Given the description of an element on the screen output the (x, y) to click on. 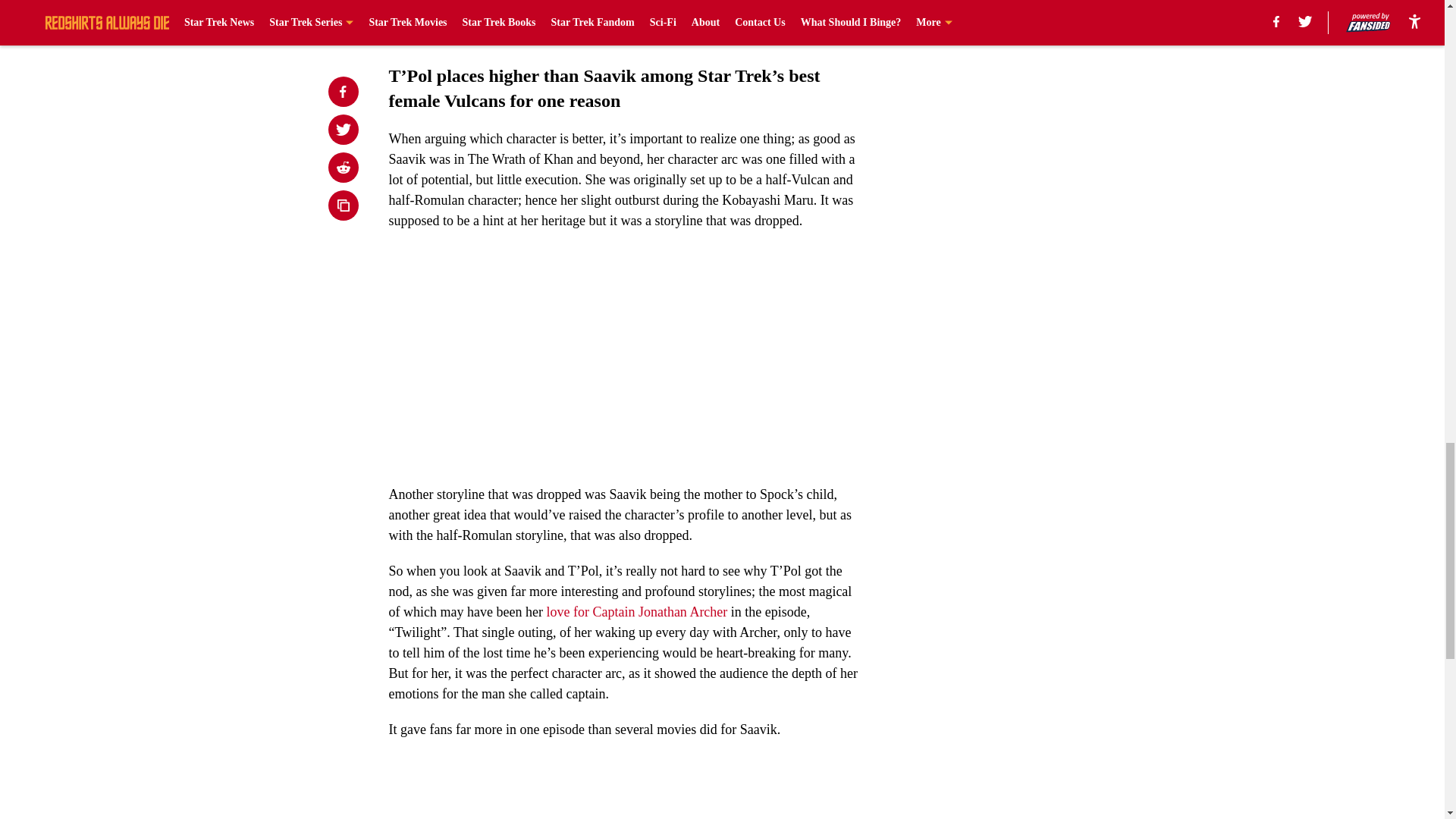
love for Captain Jonathan Archer (636, 611)
